Given the description of an element on the screen output the (x, y) to click on. 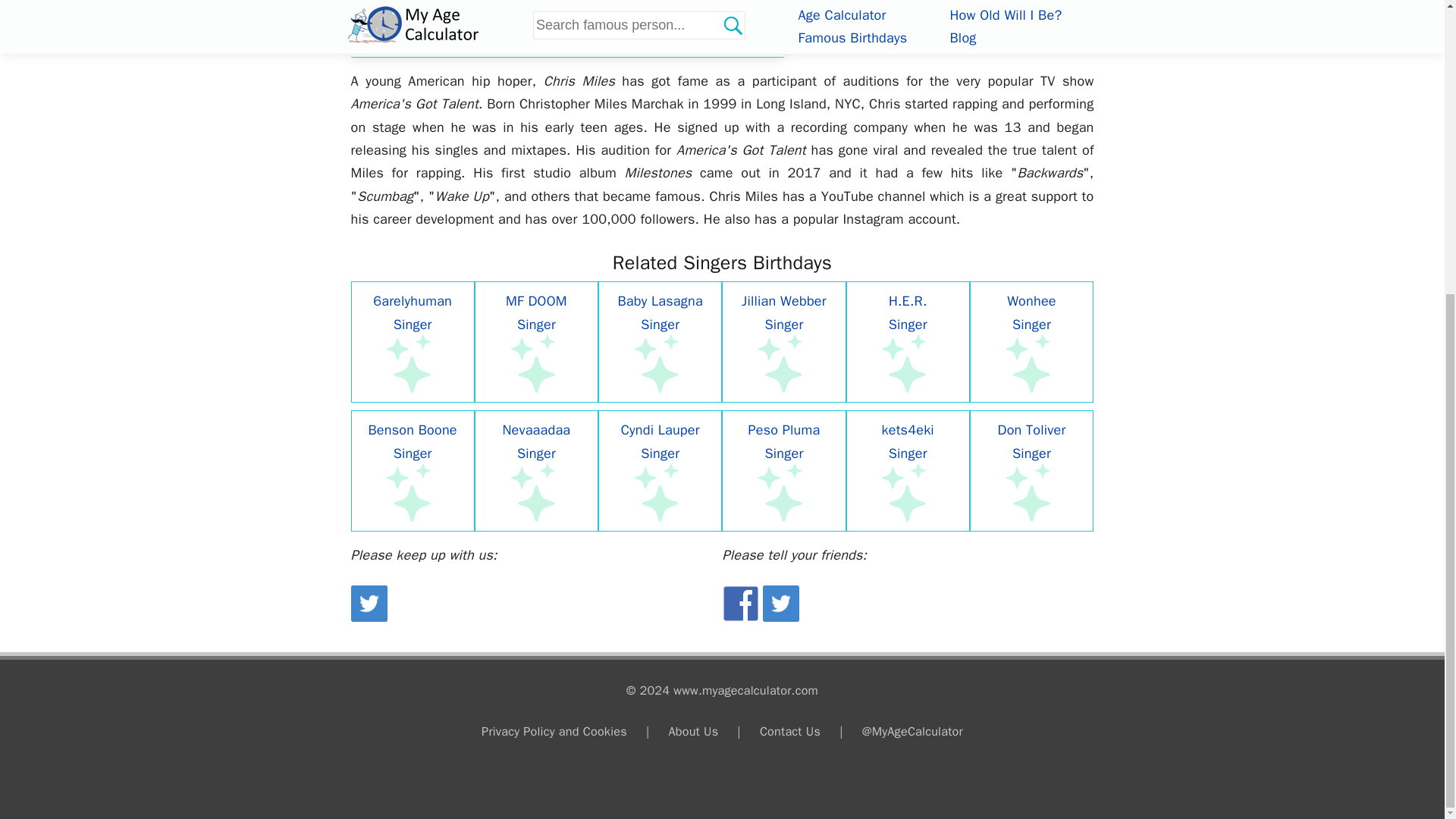
3rd party ad content (938, 14)
Privacy Policy and Cookies (554, 731)
About Us (692, 731)
Contact Us (790, 731)
